Given the description of an element on the screen output the (x, y) to click on. 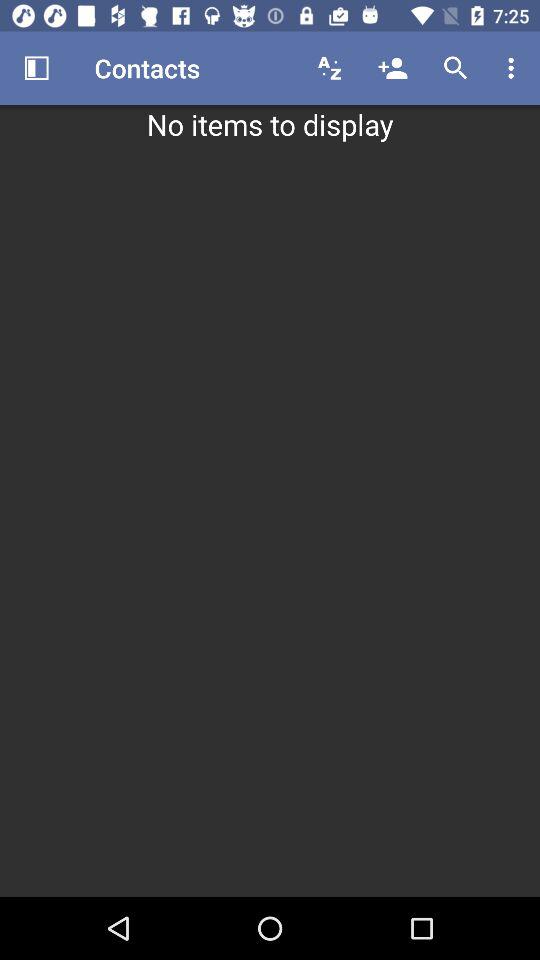
launch the icon above the no items to (329, 67)
